Given the description of an element on the screen output the (x, y) to click on. 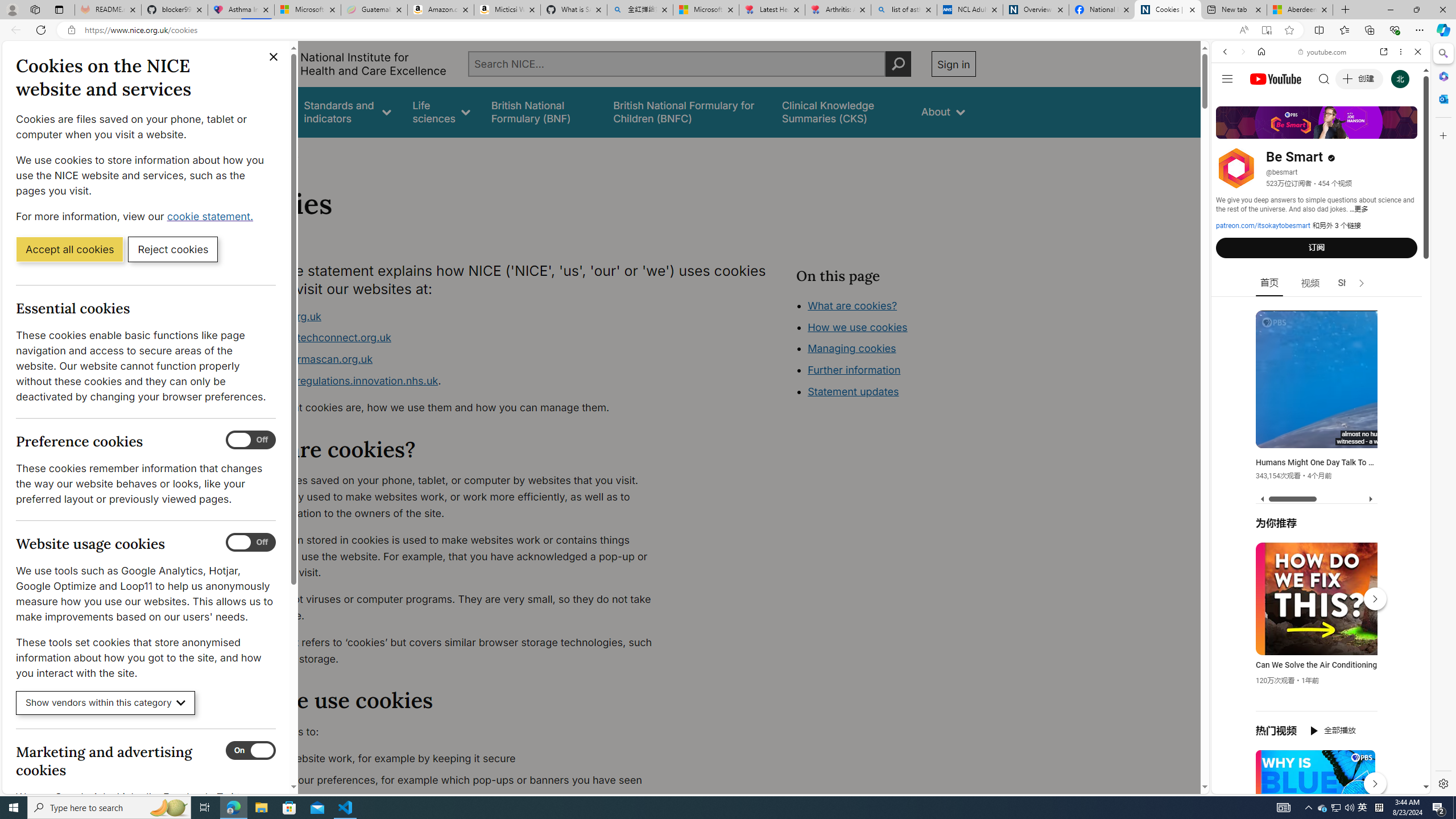
Class: style-scope tp-yt-iron-icon (1361, 283)
Web scope (1230, 102)
Trailer #2 [HD] (1320, 336)
Search Filter, IMAGES (1262, 129)
false (841, 111)
#you (1315, 659)
